Given the description of an element on the screen output the (x, y) to click on. 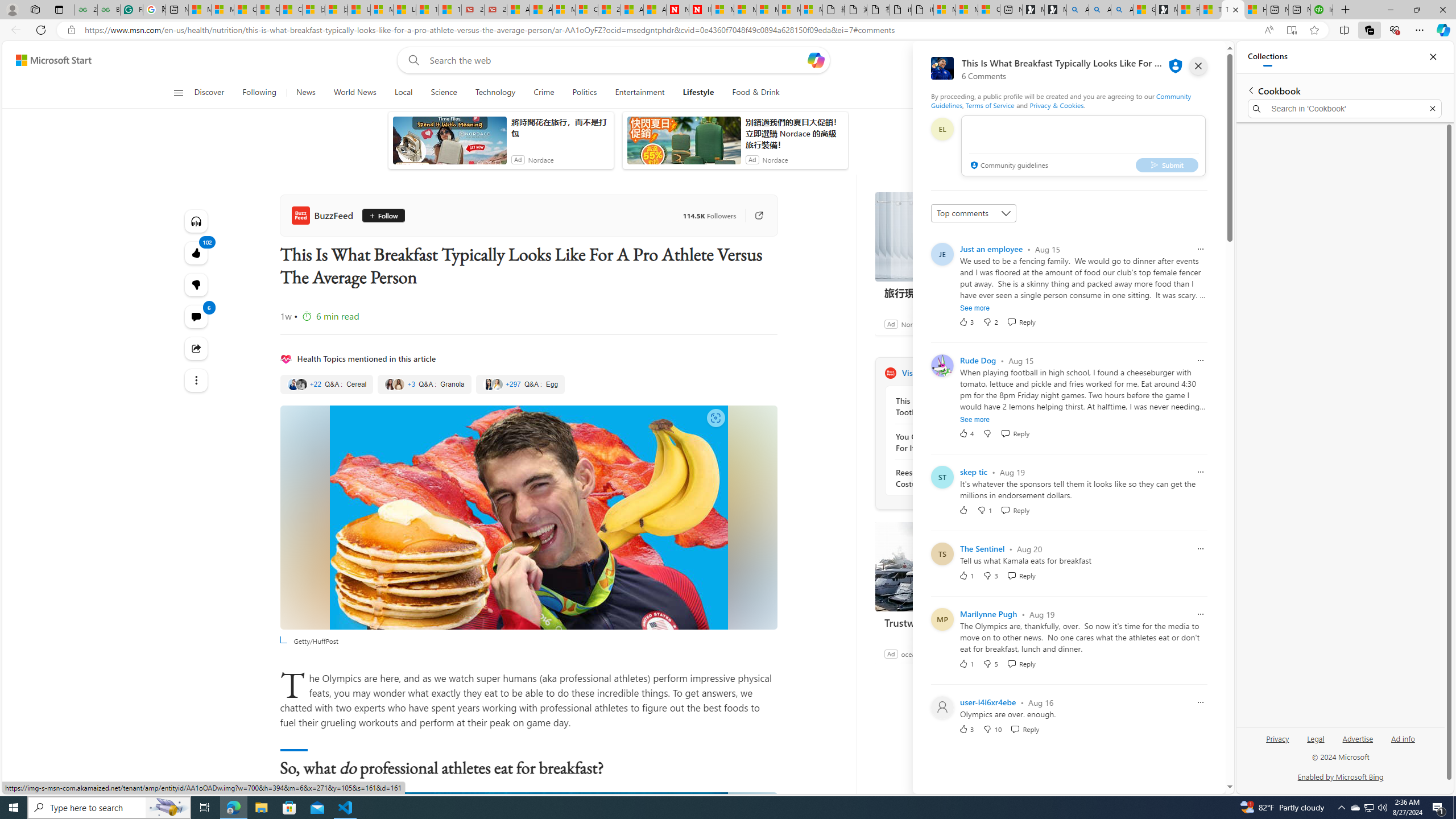
user-i4i6xr4ebe (987, 702)
Consumer Health Data Privacy Policy (988, 9)
Trustworthy Repairs (959, 622)
skep tic (973, 471)
